Given the description of an element on the screen output the (x, y) to click on. 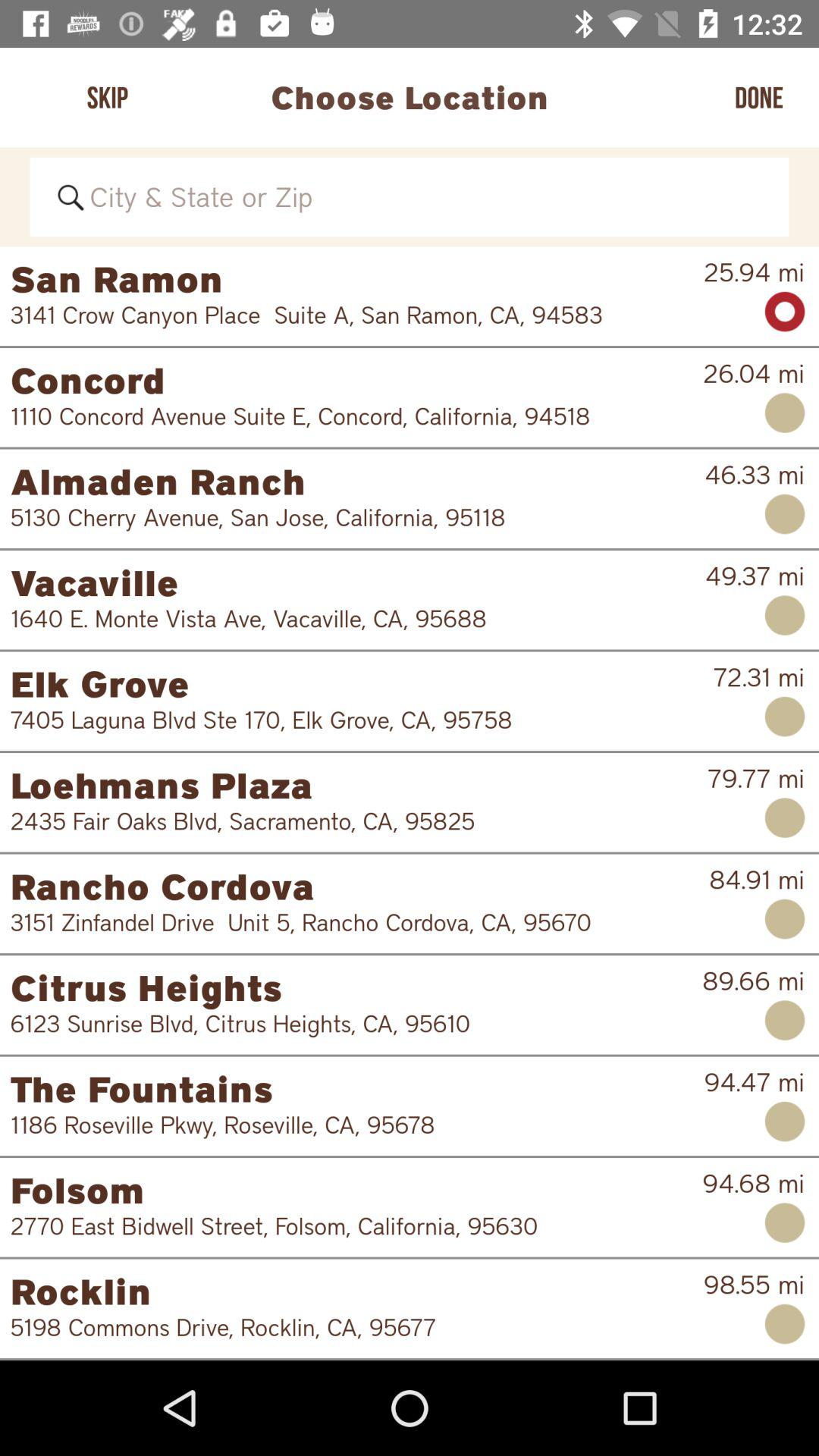
click item to the left of the 94.47 mi item (357, 1088)
